Given the description of an element on the screen output the (x, y) to click on. 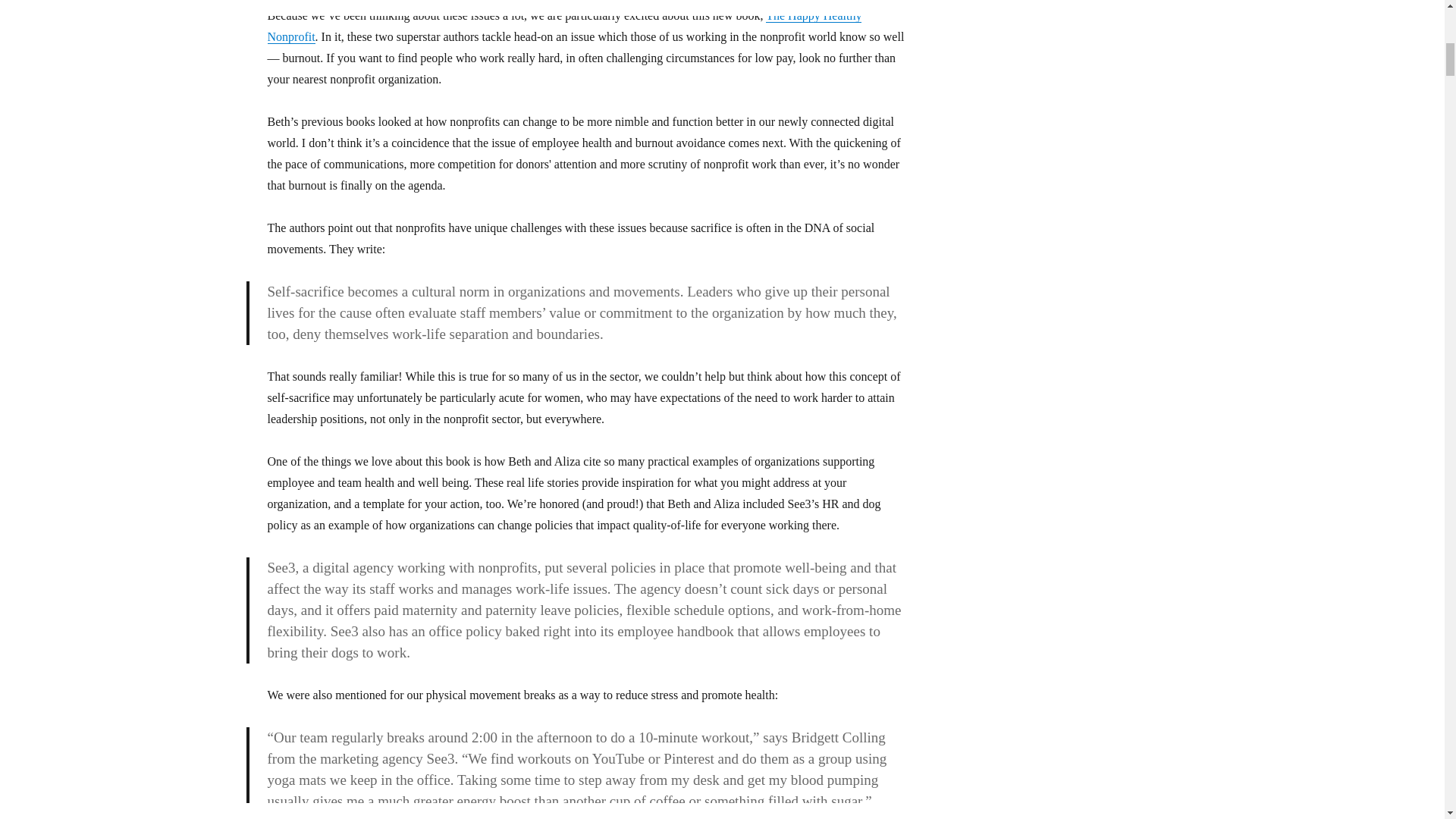
The Happy Healthy Nonprofit (563, 26)
